Given the description of an element on the screen output the (x, y) to click on. 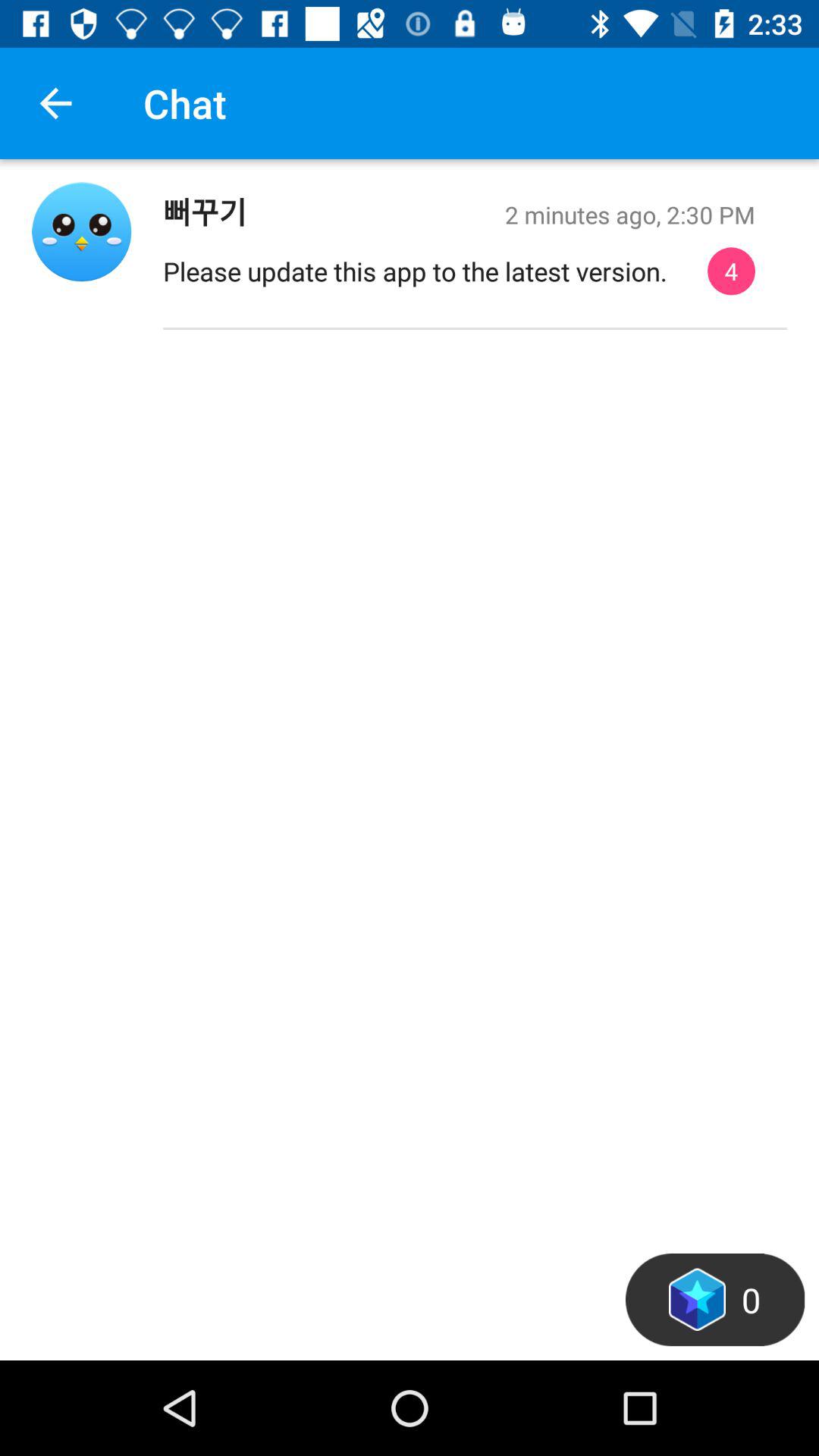
profile page (81, 231)
